Given the description of an element on the screen output the (x, y) to click on. 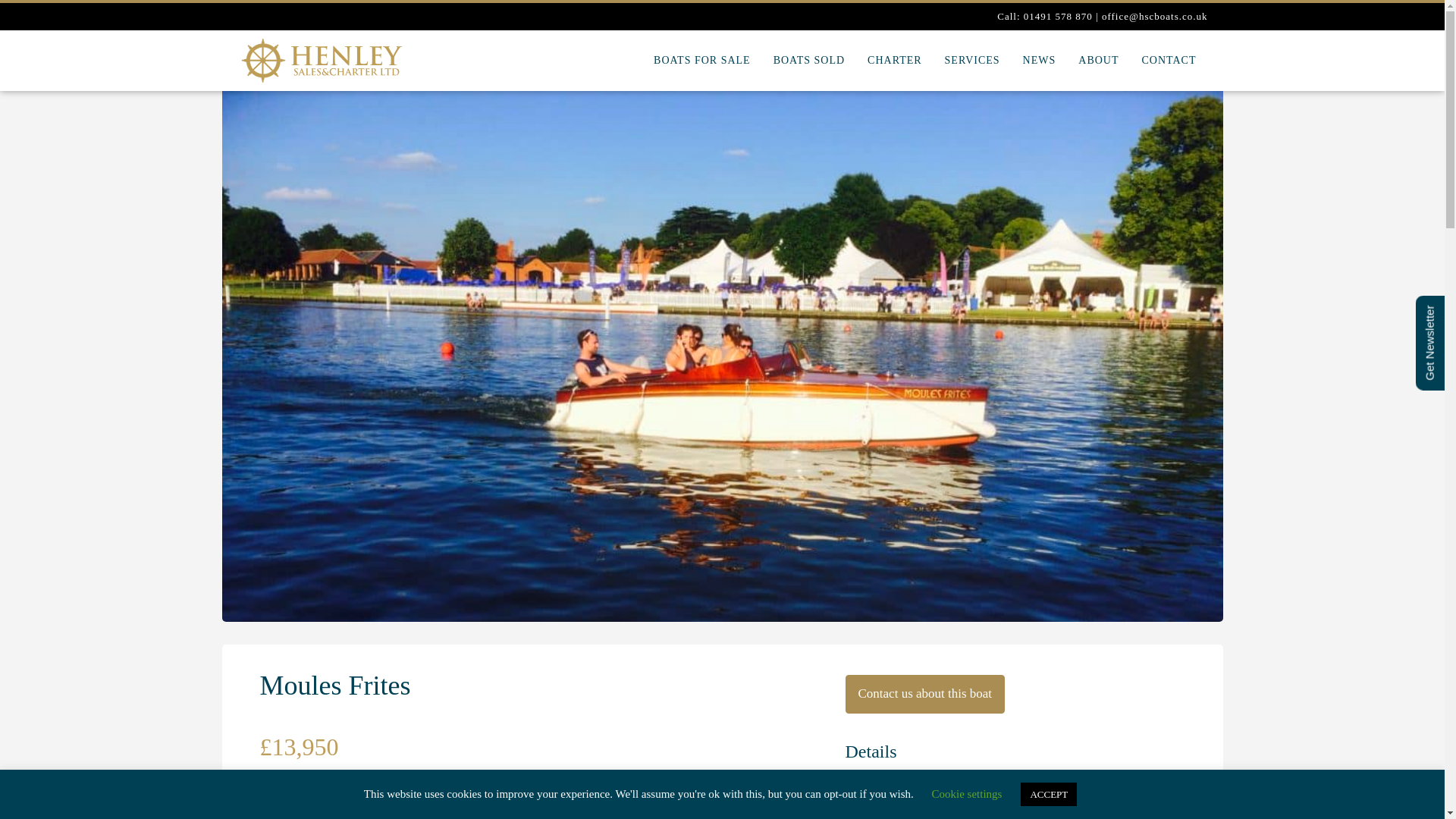
Contact us about this boat (924, 693)
CONTACT (1168, 60)
BOATS FOR SALE (701, 60)
SERVICES (972, 60)
ABOUT (1098, 60)
CHARTER (894, 60)
BOATS SOLD (808, 60)
